Given the description of an element on the screen output the (x, y) to click on. 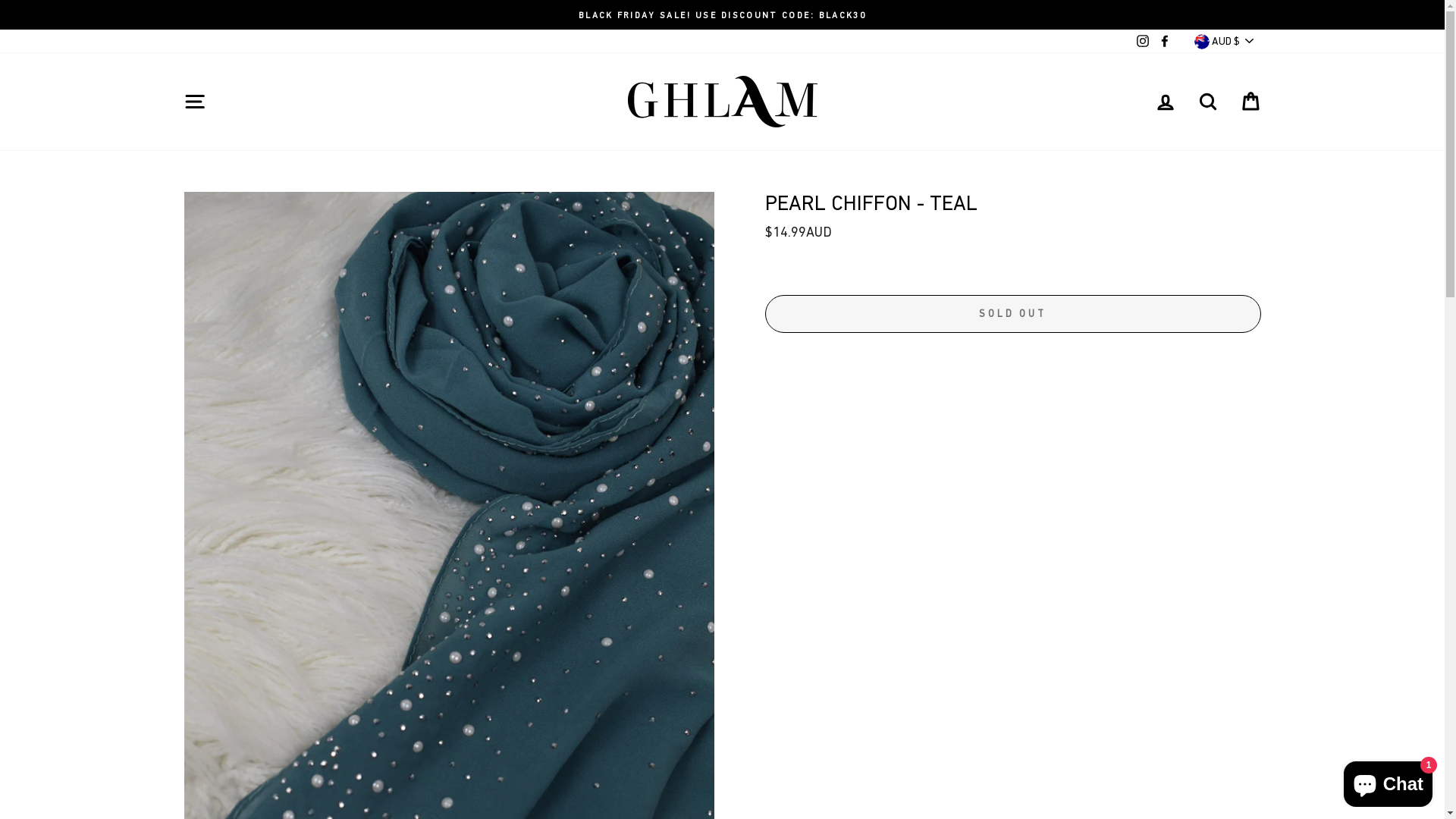
Facebook Element type: text (1163, 41)
SITE NAVIGATION Element type: text (193, 100)
Instagram Element type: text (1142, 41)
Skip to content Element type: text (0, 0)
LOG IN Element type: text (1164, 100)
SOLD OUT Element type: text (1012, 313)
CART Element type: text (1249, 100)
Shopify online store chat Element type: hover (1388, 780)
SEARCH Element type: text (1206, 100)
AUD $ Element type: text (1224, 41)
